Given the description of an element on the screen output the (x, y) to click on. 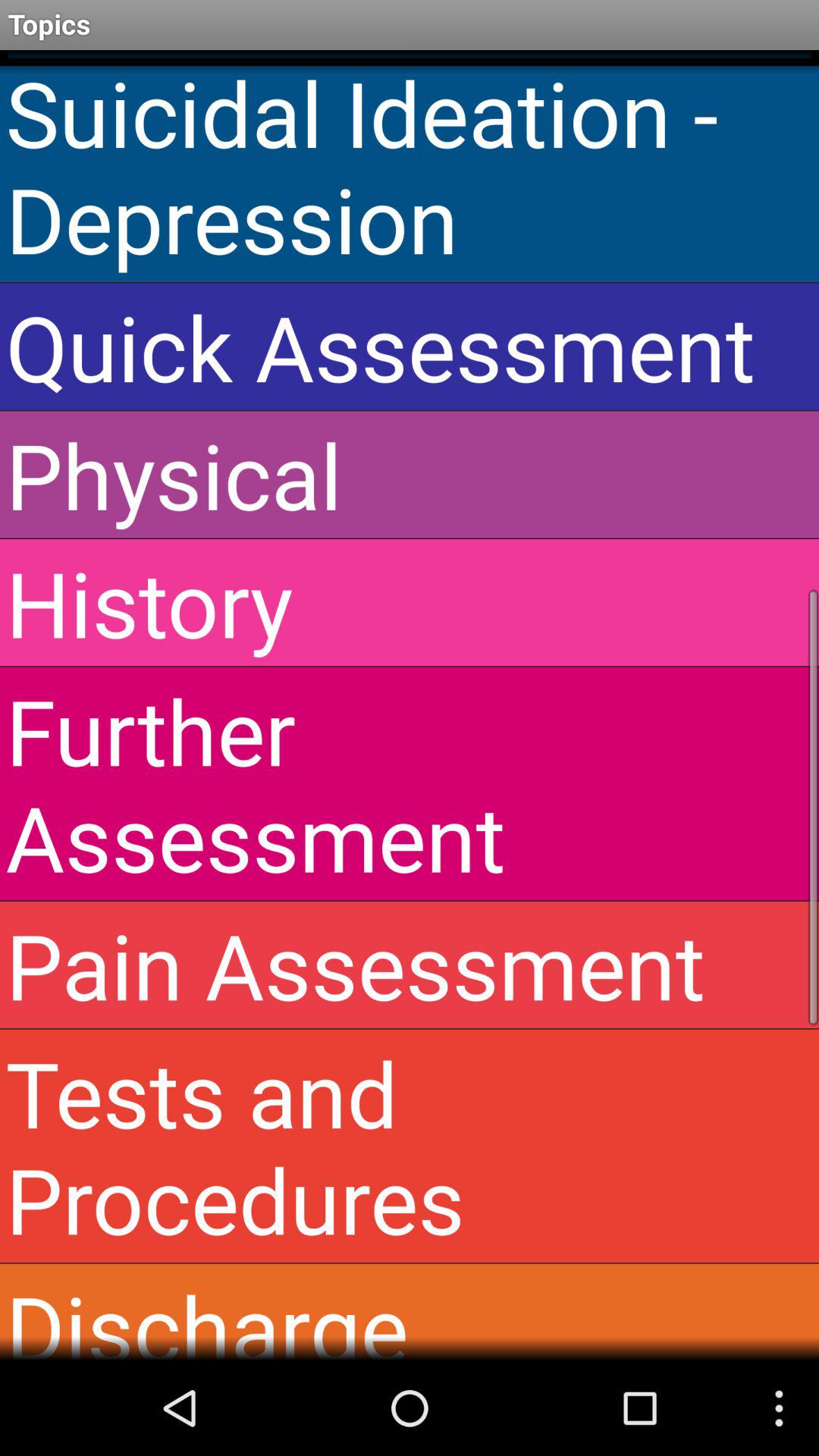
select app below history icon (409, 783)
